Given the description of an element on the screen output the (x, y) to click on. 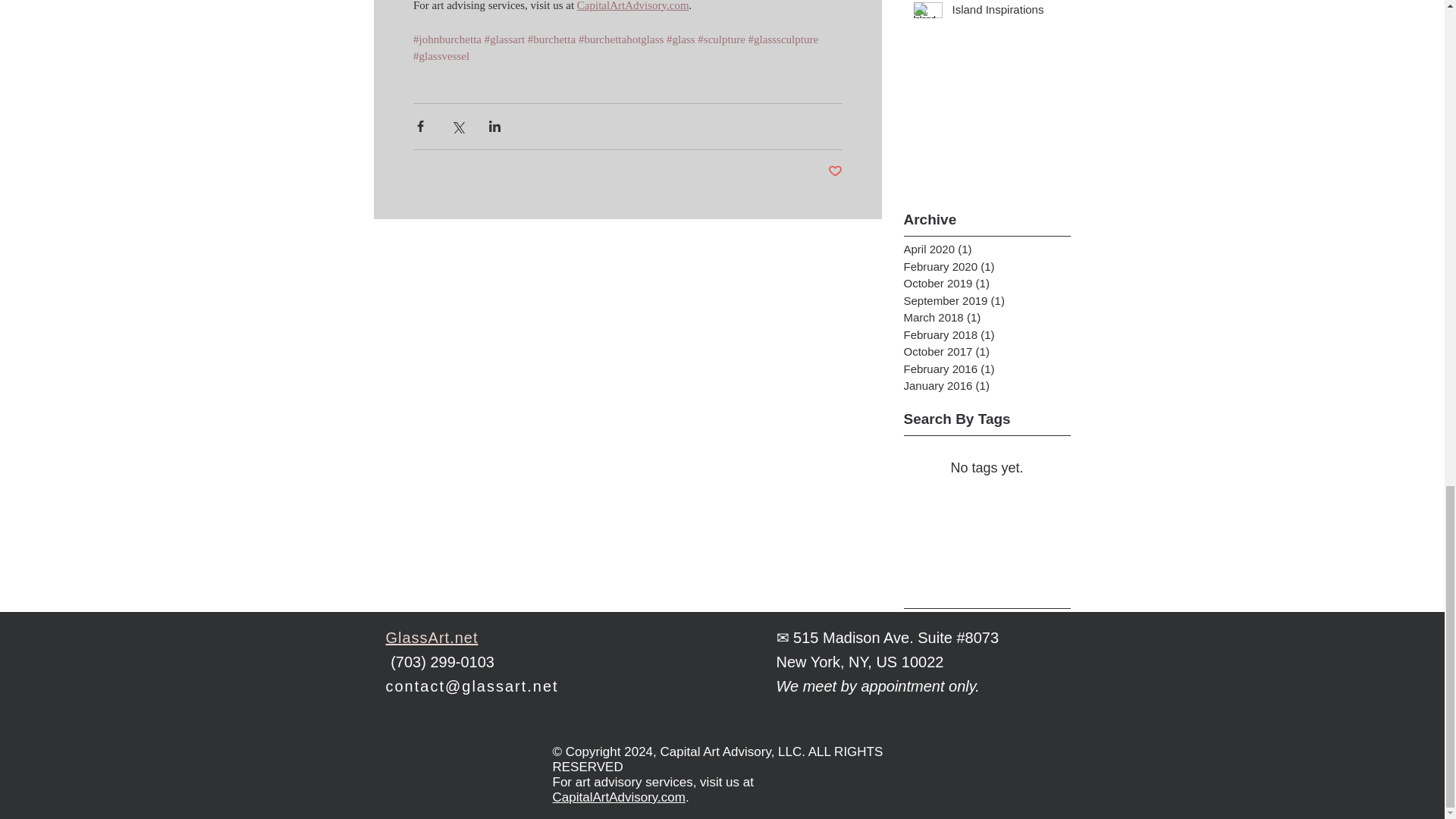
Island Inspirations (1006, 12)
Post not marked as liked (835, 171)
CapitalArtAdvisory.com (632, 5)
